Given the description of an element on the screen output the (x, y) to click on. 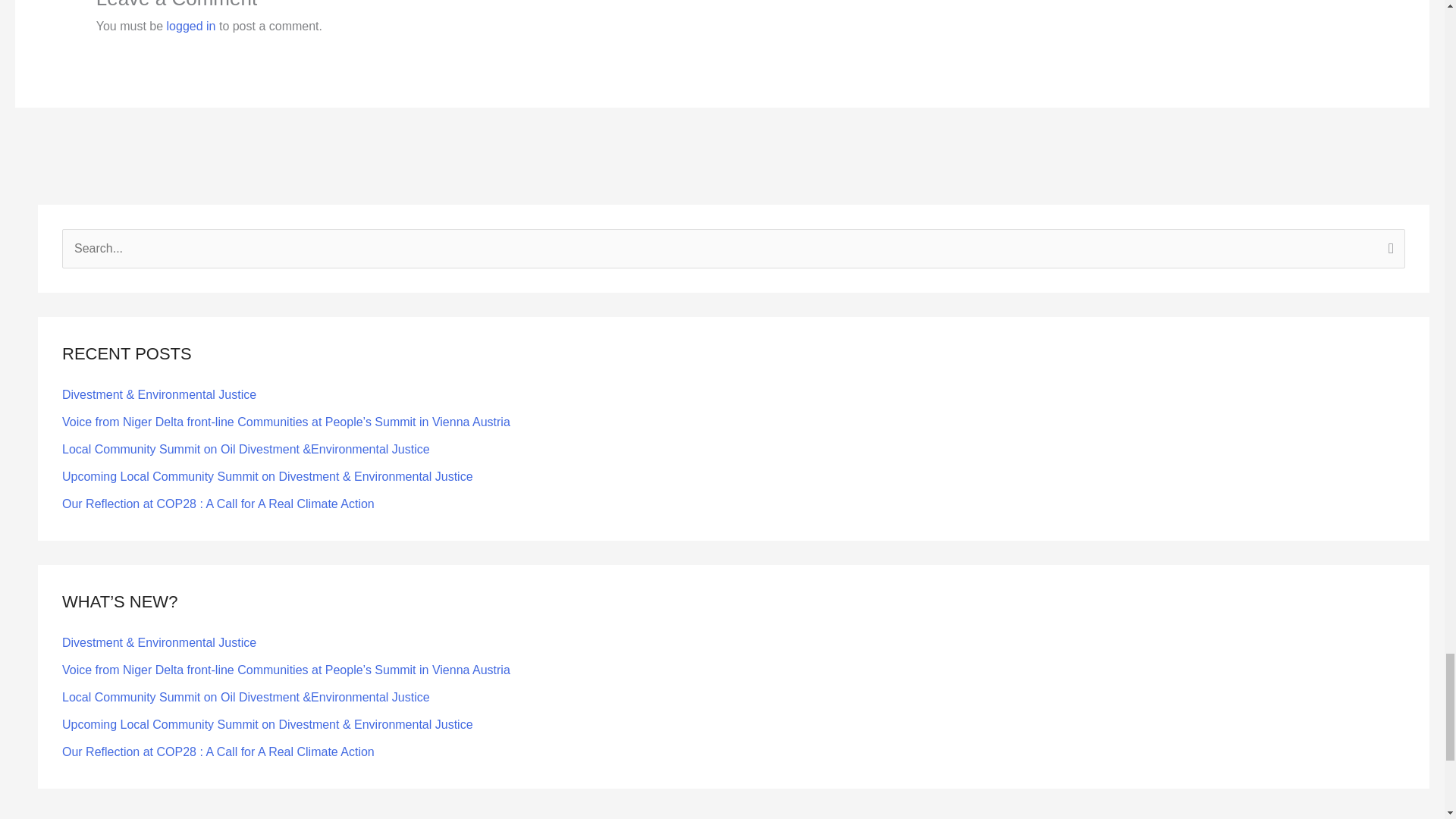
Search (1388, 250)
Search (1388, 250)
